Given the description of an element on the screen output the (x, y) to click on. 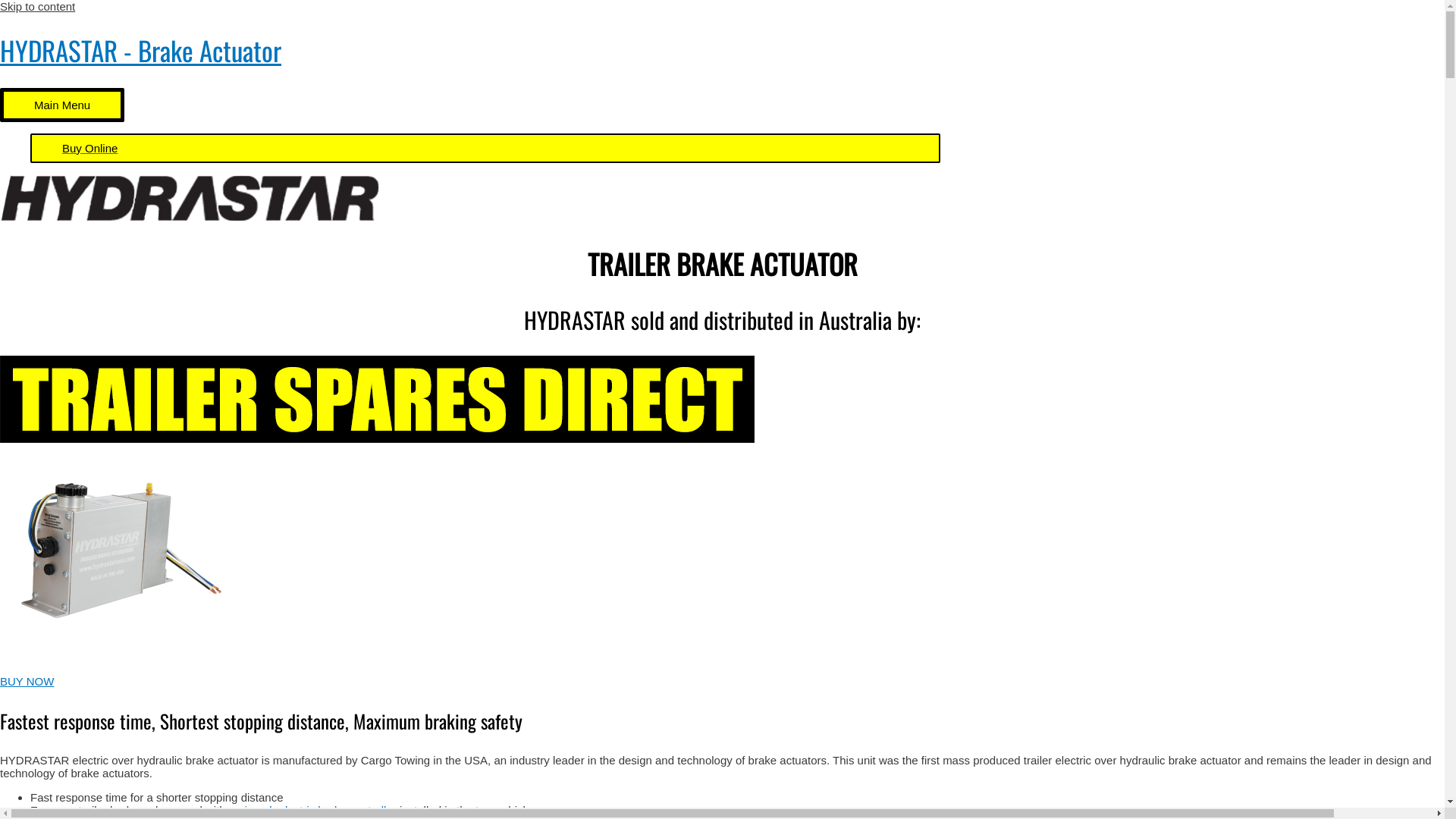
HYDRASTAR - Brake Actuator Element type: text (140, 49)
Main Menu Element type: text (62, 104)
BUY NOW Element type: text (26, 680)
Buy Online Element type: text (485, 148)
Skip to content Element type: text (37, 6)
in-cab electric brake controller Element type: text (320, 809)
381-7066 - Actuator Element type: hover (113, 558)
TrailerSparesDirect_onblack Element type: hover (377, 398)
logo_hydrastar_bw Element type: hover (189, 198)
